Given the description of an element on the screen output the (x, y) to click on. 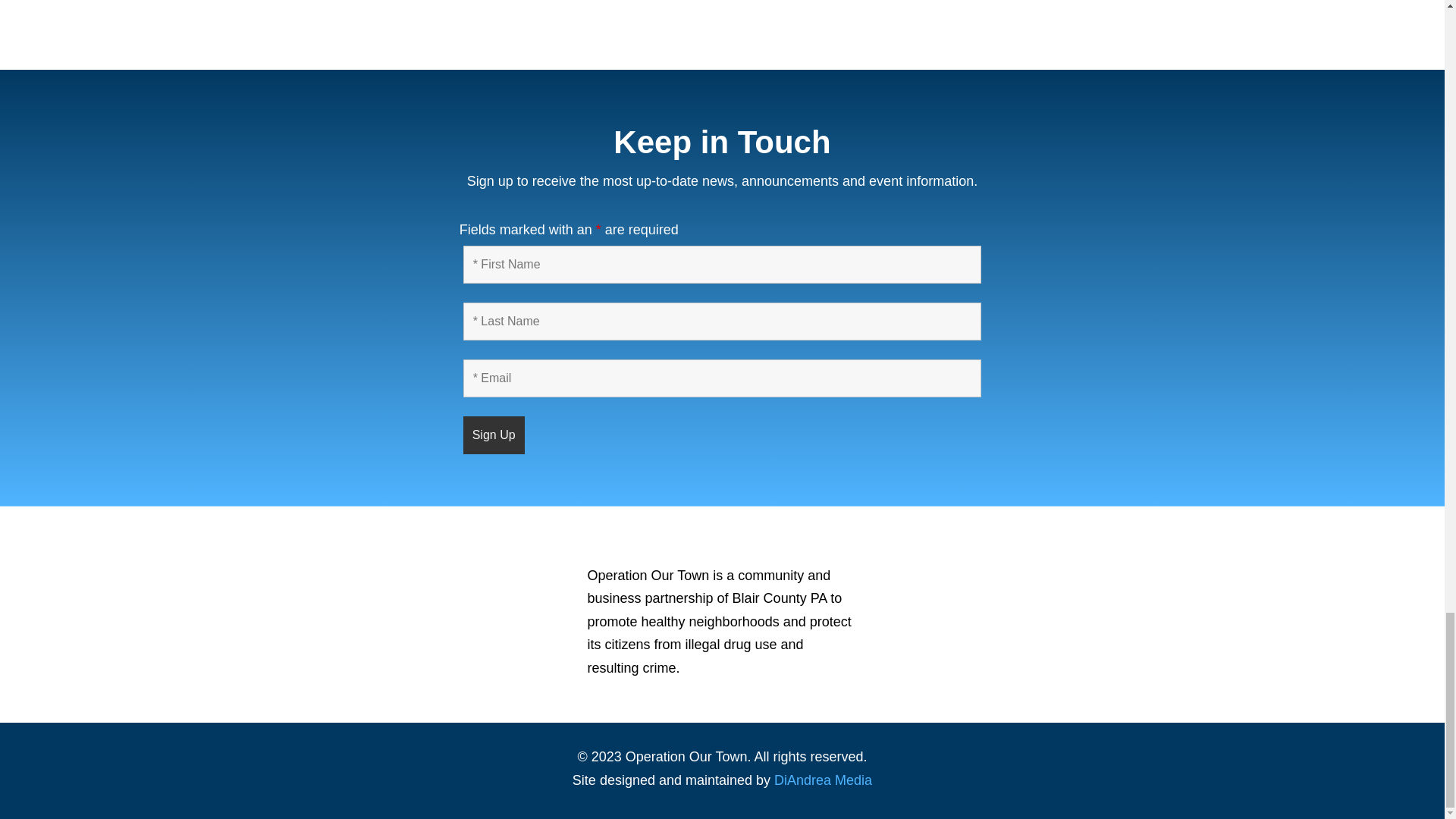
Sign Up (493, 435)
